Given the description of an element on the screen output the (x, y) to click on. 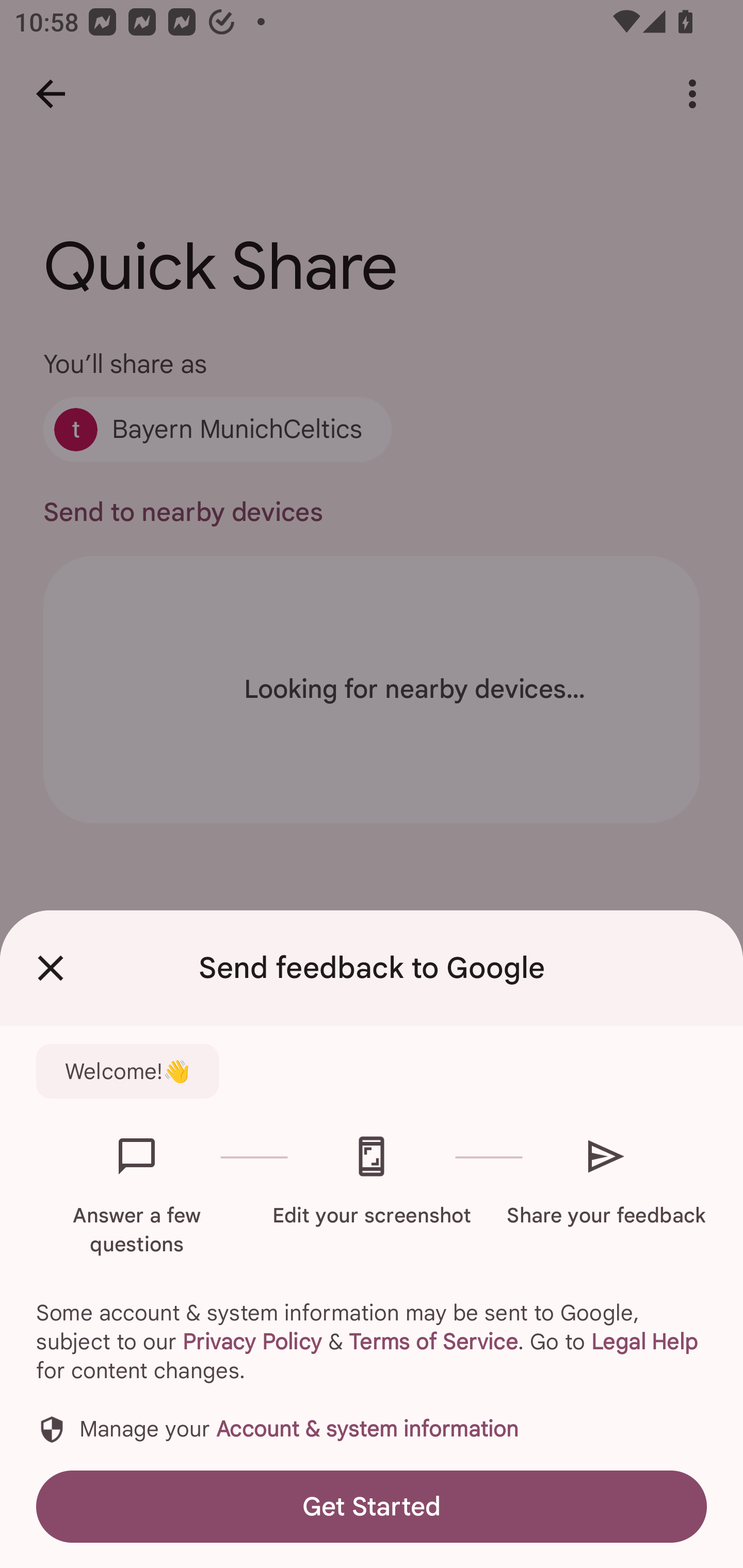
Close Feedback (50, 968)
Get Started (371, 1505)
